Given the description of an element on the screen output the (x, y) to click on. 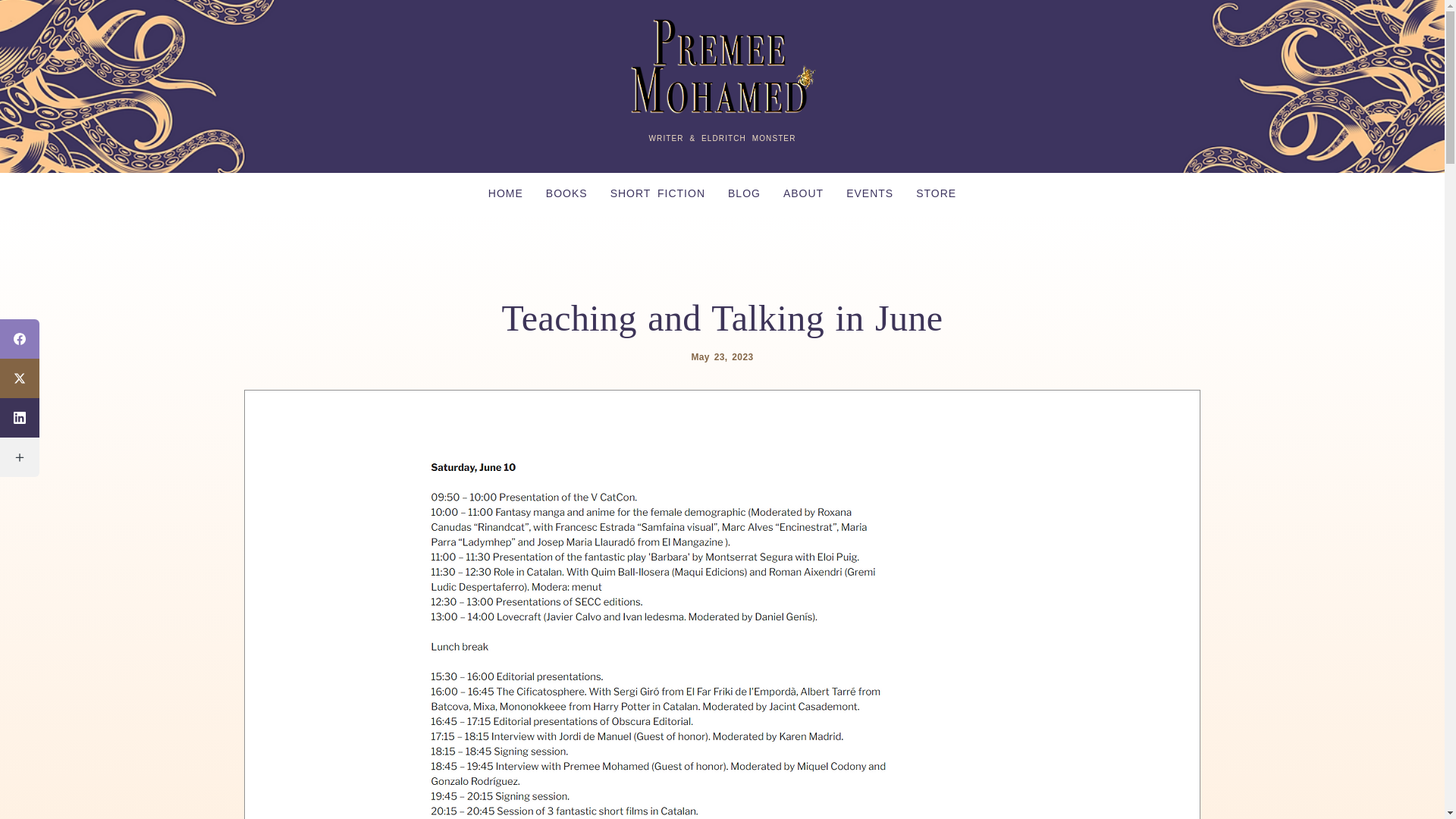
ABOUT (802, 193)
HOME (505, 193)
BOOKS (566, 193)
STORE (936, 193)
BLOG (743, 193)
SHORT FICTION (657, 193)
EVENTS (869, 193)
